Given the description of an element on the screen output the (x, y) to click on. 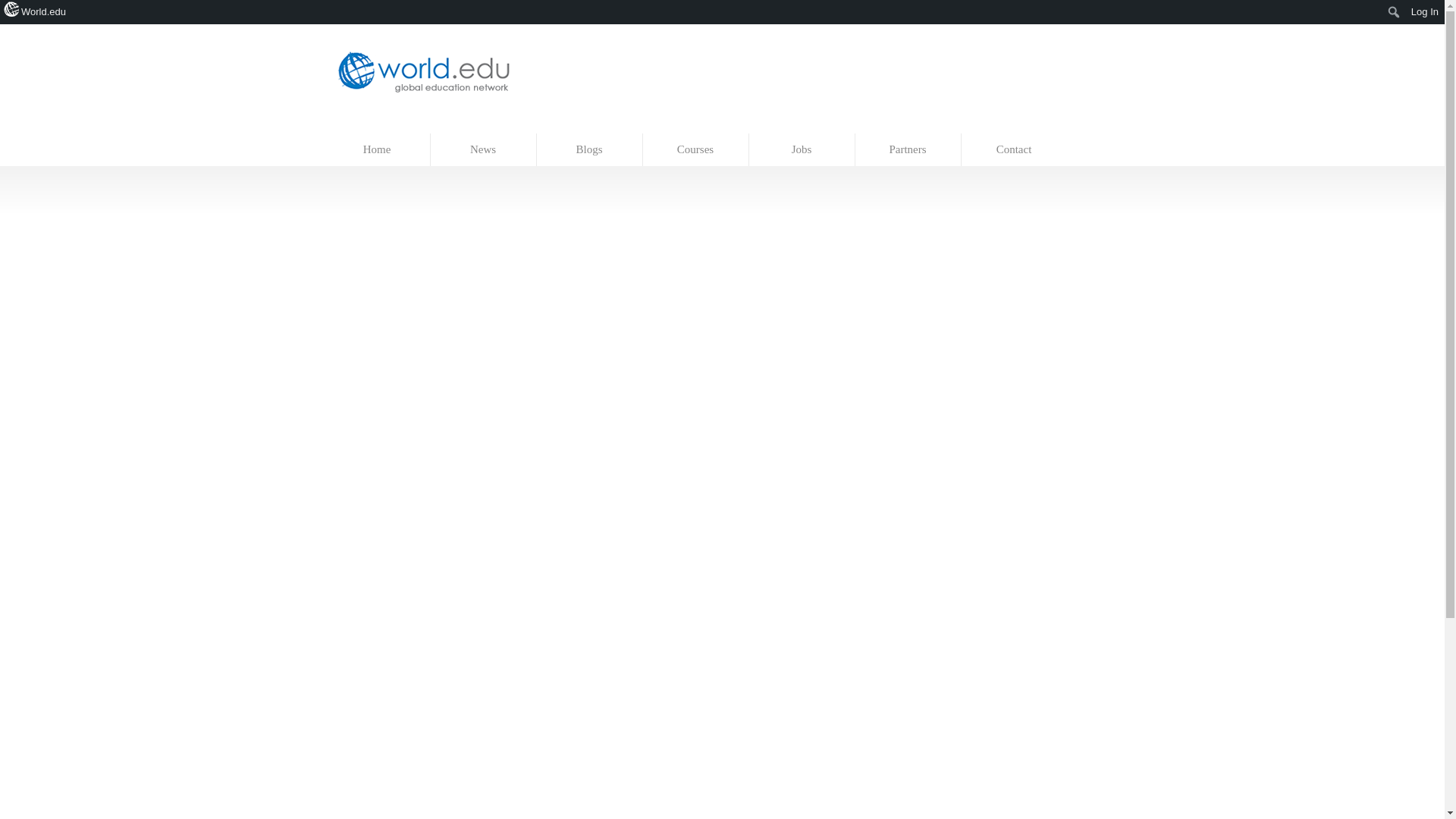
Partners (908, 149)
Contact (1013, 149)
Home (377, 149)
Courses (696, 149)
Jobs (802, 149)
News (483, 149)
Blogs (590, 149)
Skip to content (357, 125)
Skip to content (357, 125)
